Given the description of an element on the screen output the (x, y) to click on. 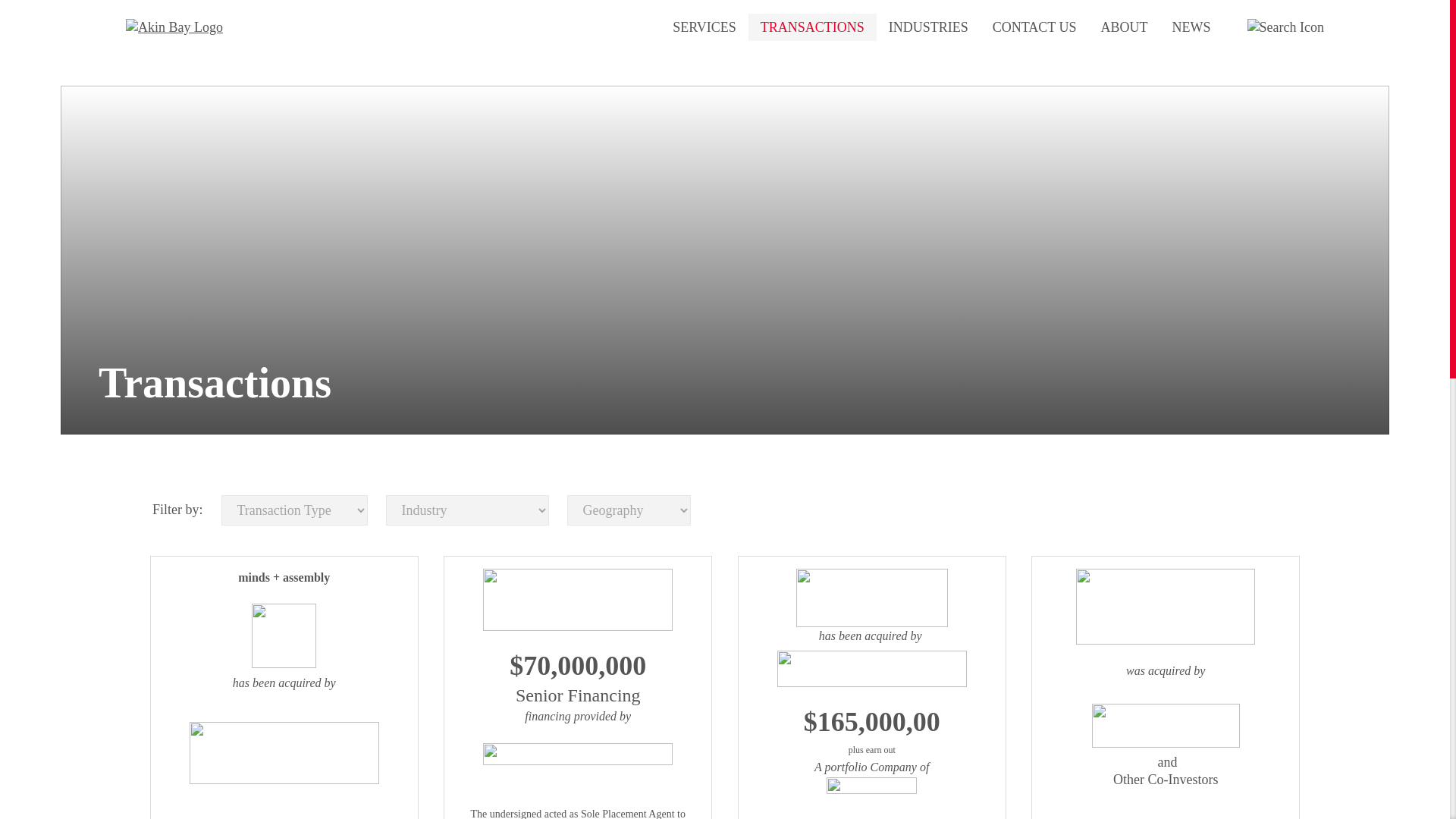
NEWS (1191, 26)
INDUSTRIES (927, 26)
CONTACT US (1034, 26)
ABOUT (1124, 26)
SERVICES (704, 26)
TRANSACTIONS (812, 26)
